Given the description of an element on the screen output the (x, y) to click on. 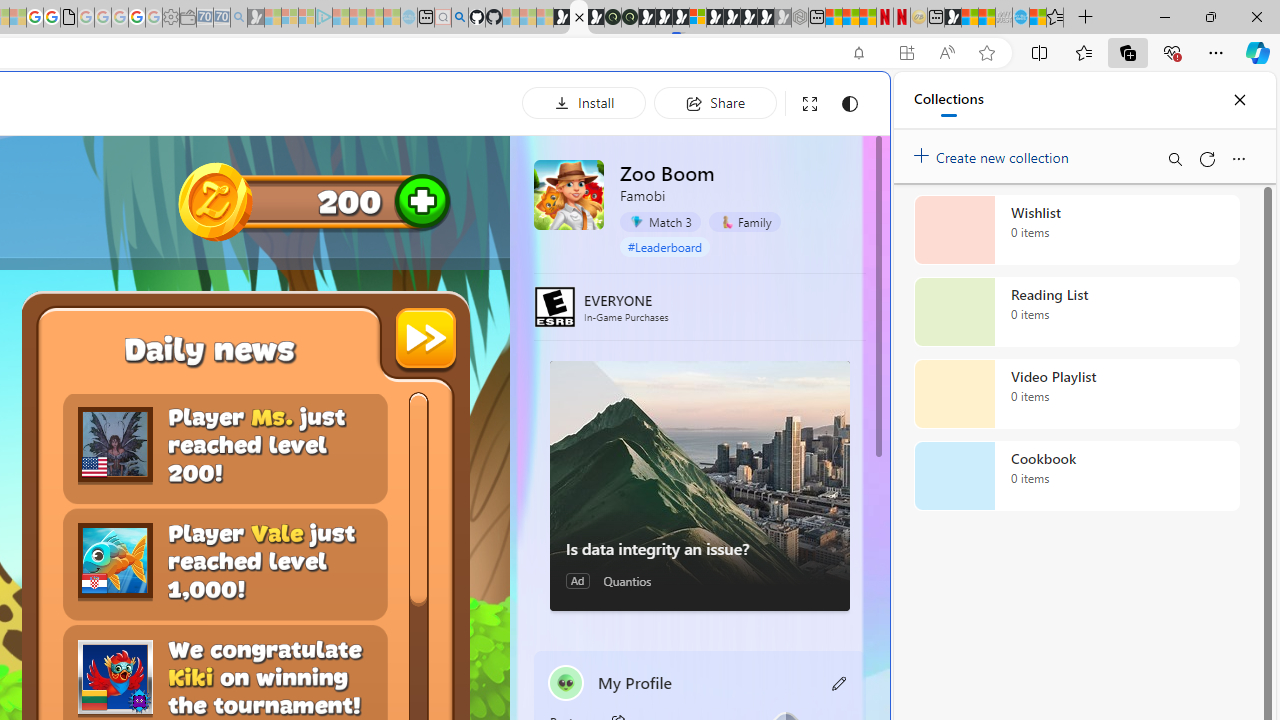
Video Playlist collection, 0 items (1076, 394)
Class: button edit-icon (839, 683)
Is data integrity an issue? (699, 548)
Tabs you've opened (276, 265)
Match 3 (660, 222)
Services - Maintenance | Sky Blue Bikes - Sky Blue Bikes (1020, 17)
